Given the description of an element on the screen output the (x, y) to click on. 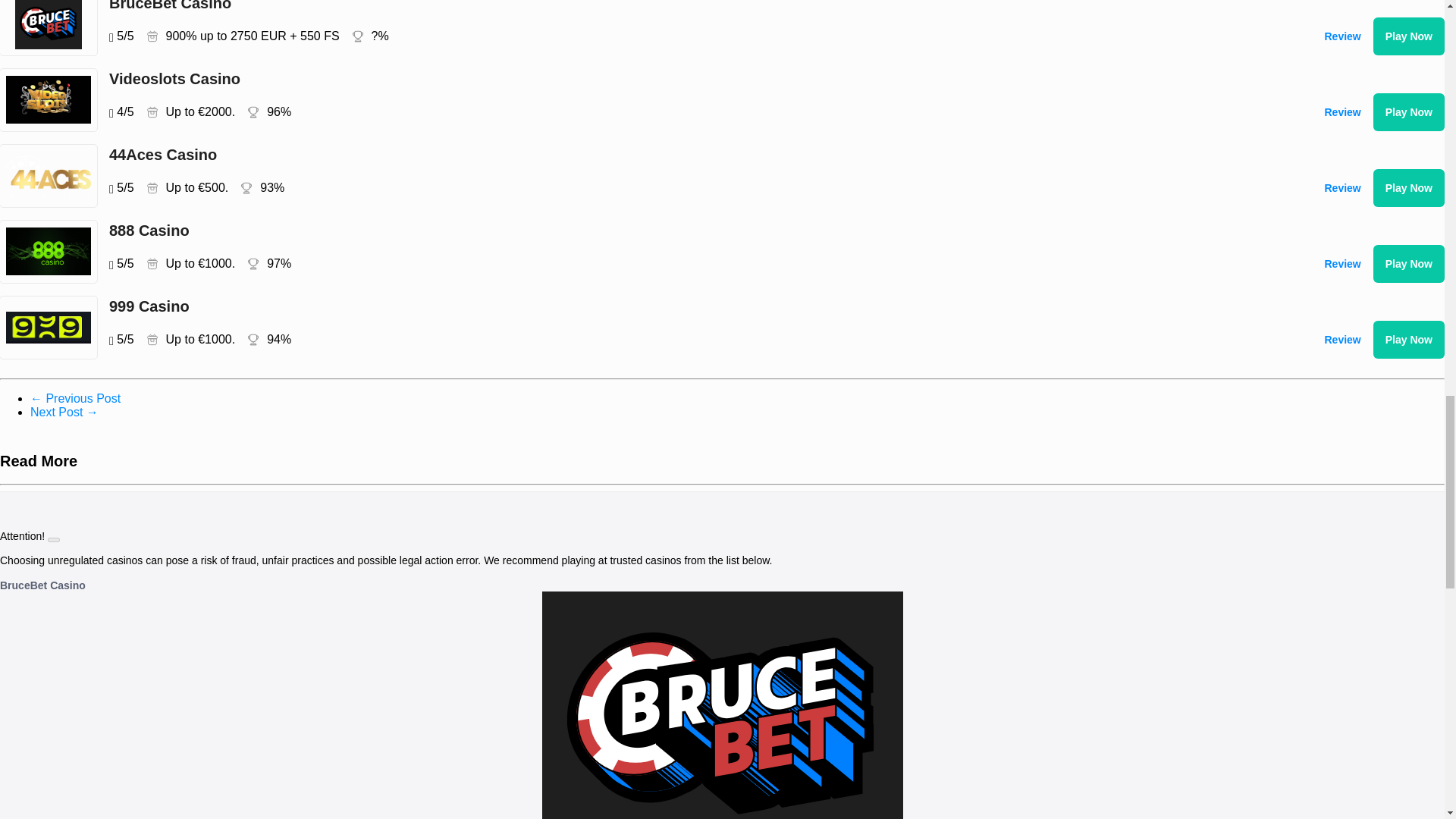
BruceBet Casino (681, 6)
999 Casino (681, 306)
888 Casino (681, 230)
Videoslots Casino (681, 78)
Review (1342, 187)
The Life-Sized City Blog: Byrned Rubber and Gotham Ethics (64, 411)
Review (1342, 36)
Review (1342, 112)
Review (1342, 263)
44Aces Casino (681, 154)
Review (1342, 339)
BruceBet Casino (42, 585)
